Given the description of an element on the screen output the (x, y) to click on. 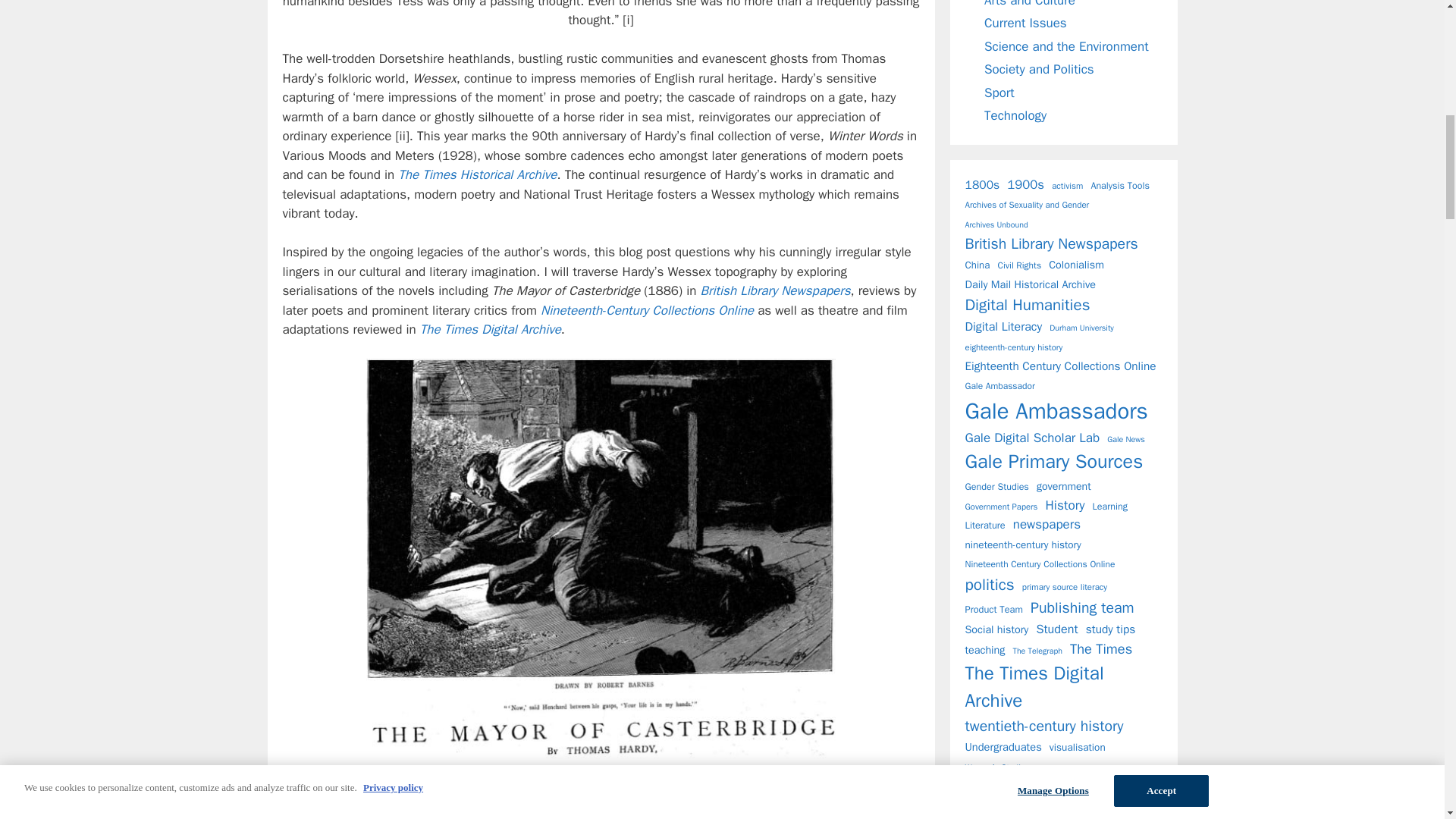
Nineteenth-Century Collections Online (647, 310)
The Times Historical Archive (476, 174)
The Times Digital Archive (490, 329)
British Library Newspapers (775, 290)
